Given the description of an element on the screen output the (x, y) to click on. 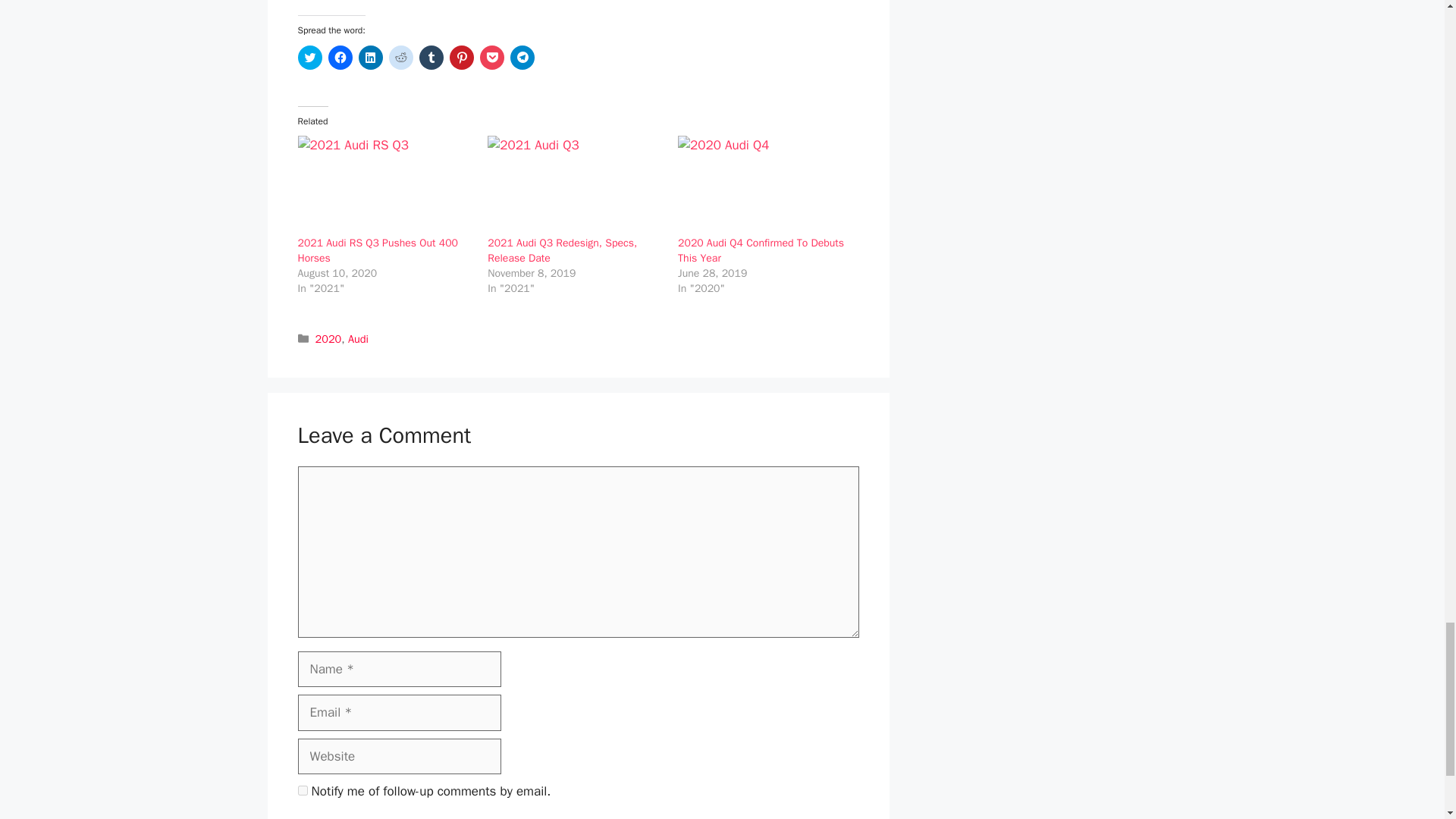
Click to share on Facebook (339, 57)
2021 Audi RS Q3 Pushes Out 400 Horses (377, 250)
Click to share on LinkedIn (369, 57)
Click to share on Pinterest (460, 57)
Click to share on Twitter (309, 57)
Click to share on Telegram (521, 57)
2021 Audi RS Q3 Pushes Out 400 Horses (384, 185)
2020 Audi Q4 Confirmed To Debuts This Year (761, 250)
2021 Audi Q3 Redesign, Specs, Release Date (574, 185)
2020 (328, 338)
subscribe (302, 790)
Click to share on Pocket (491, 57)
Click to share on Tumblr (430, 57)
2021 Audi RS Q3 Pushes Out 400 Horses (377, 250)
Click to share on Reddit (400, 57)
